Given the description of an element on the screen output the (x, y) to click on. 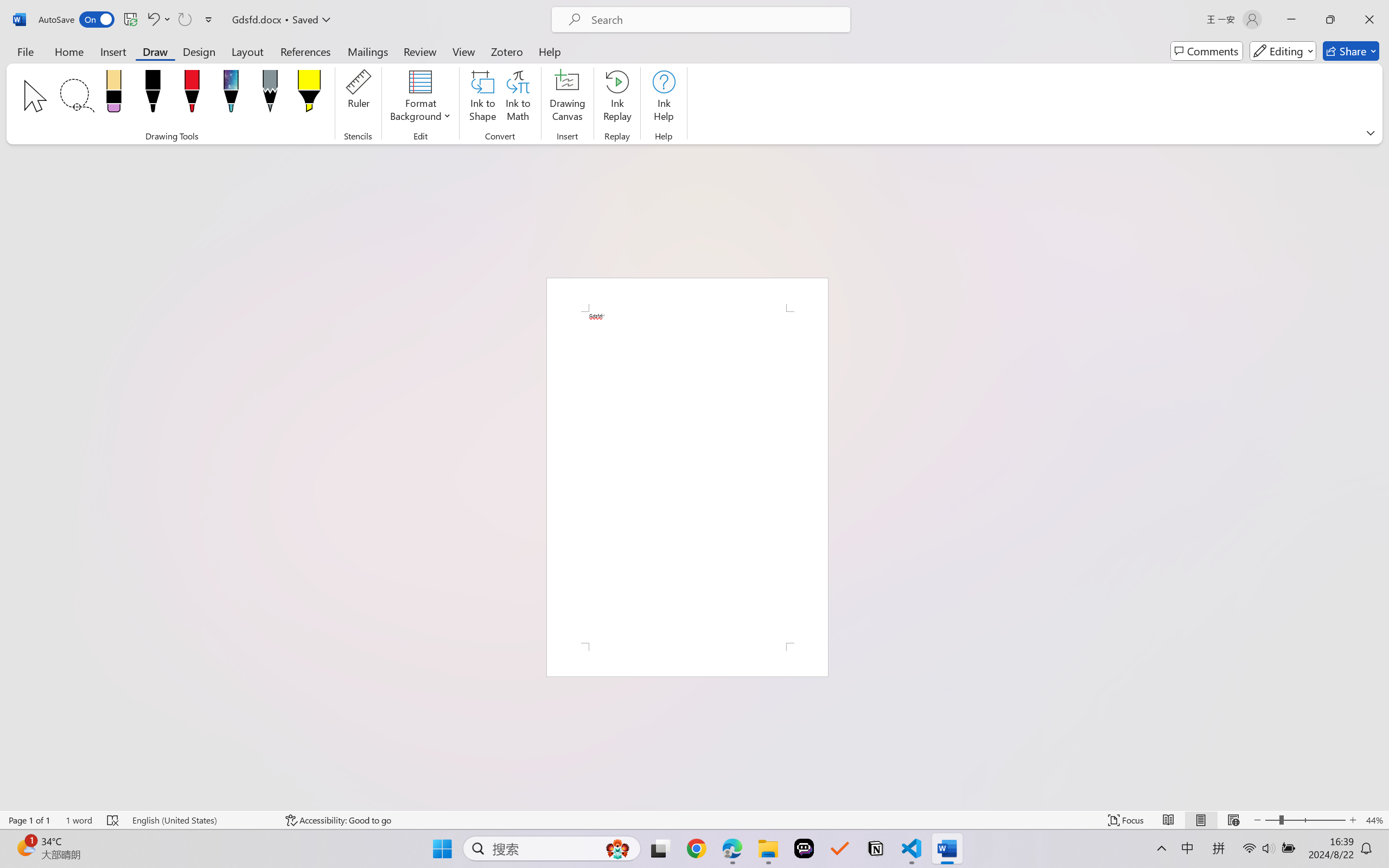
From Beginning... (85, 62)
Picture Format (453, 29)
Context help (707, 360)
200% (664, 415)
Clear Recording (224, 62)
